Given the description of an element on the screen output the (x, y) to click on. 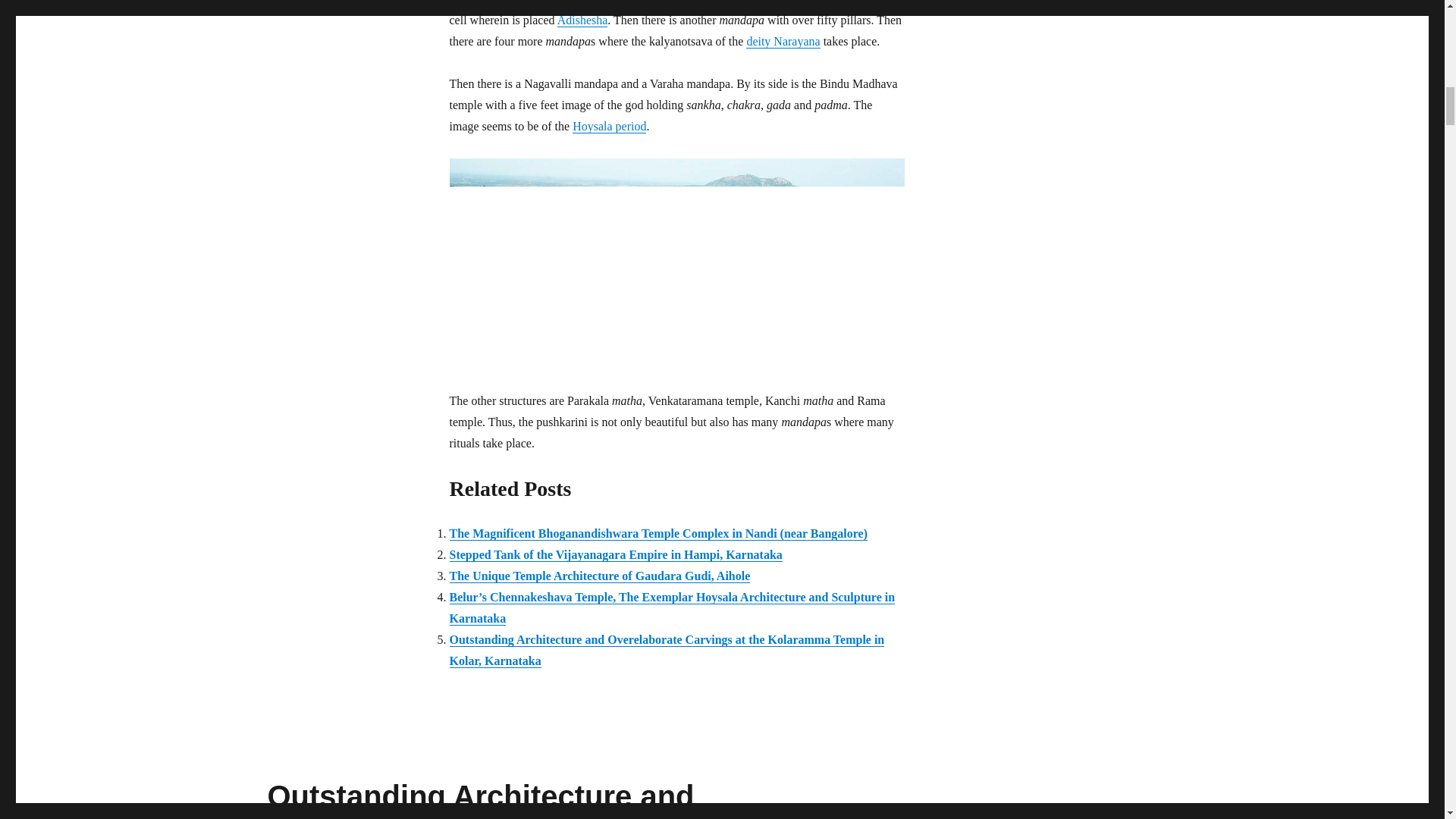
Hoysala architecture (609, 125)
Stepped Tank of the Vijayanagara Empire in Hampi, Karnataka (614, 554)
The Unique Temple Architecture of Gaudara Gudi, Aihole (598, 575)
Narayana, Hindu deity (782, 41)
Adishesha (582, 19)
Adishesha (582, 19)
The Unique Temple Architecture of Gaudara Gudi, Aihole (598, 575)
